Given the description of an element on the screen output the (x, y) to click on. 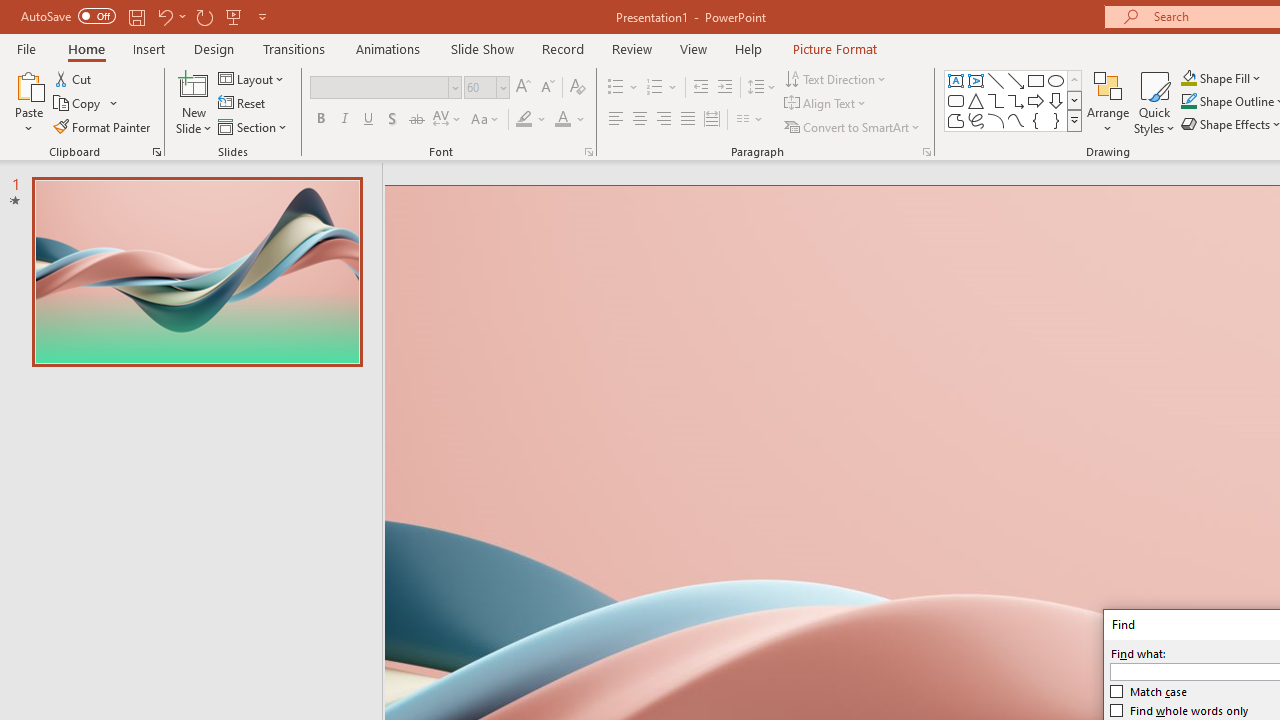
Strikethrough (416, 119)
Shape Fill (1221, 78)
Text Highlight Color (531, 119)
Character Spacing (447, 119)
Arrow: Right (1035, 100)
Font... (588, 151)
Increase Indent (725, 87)
Clear Formatting (577, 87)
